Given the description of an element on the screen output the (x, y) to click on. 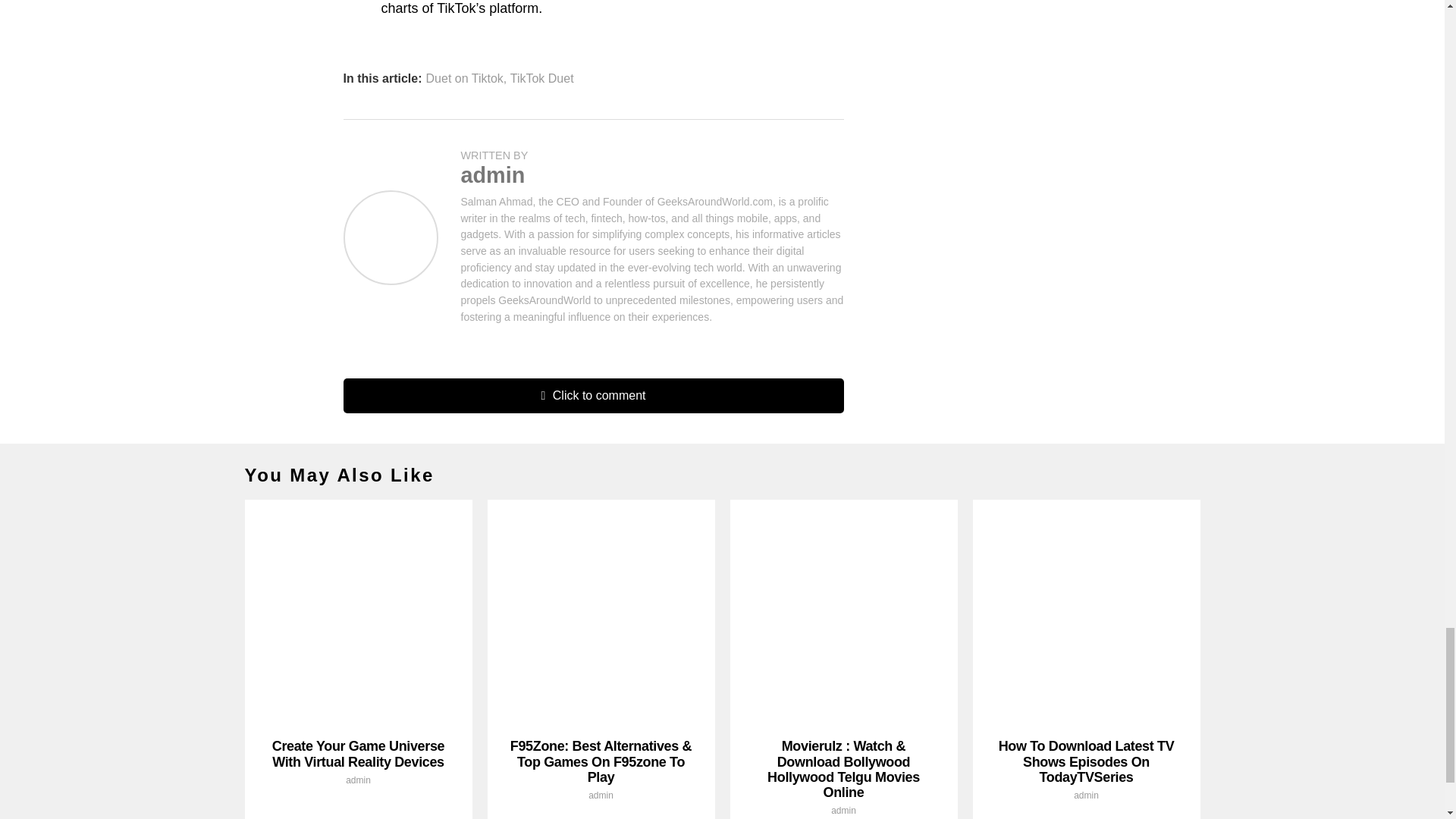
Posts by admin (600, 795)
Posts by admin (843, 810)
Posts by admin (1086, 795)
Posts by admin (358, 779)
Posts by admin (493, 174)
